Given the description of an element on the screen output the (x, y) to click on. 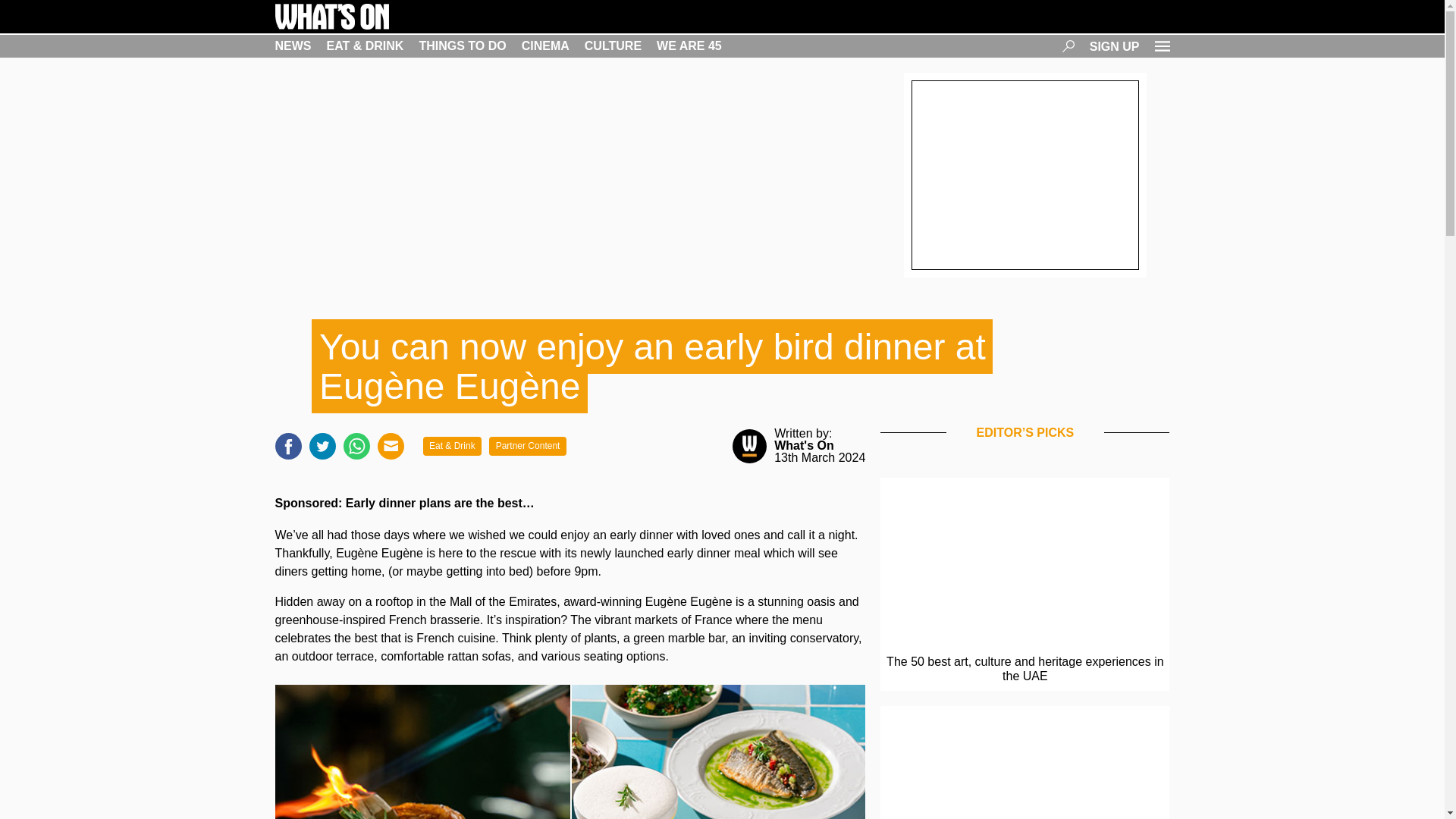
WE ARE 45 (689, 45)
CULTURE (613, 45)
THINGS TO DO (462, 45)
SIGN UP (1114, 45)
NEWS (293, 45)
CINEMA (545, 45)
